Given the description of an element on the screen output the (x, y) to click on. 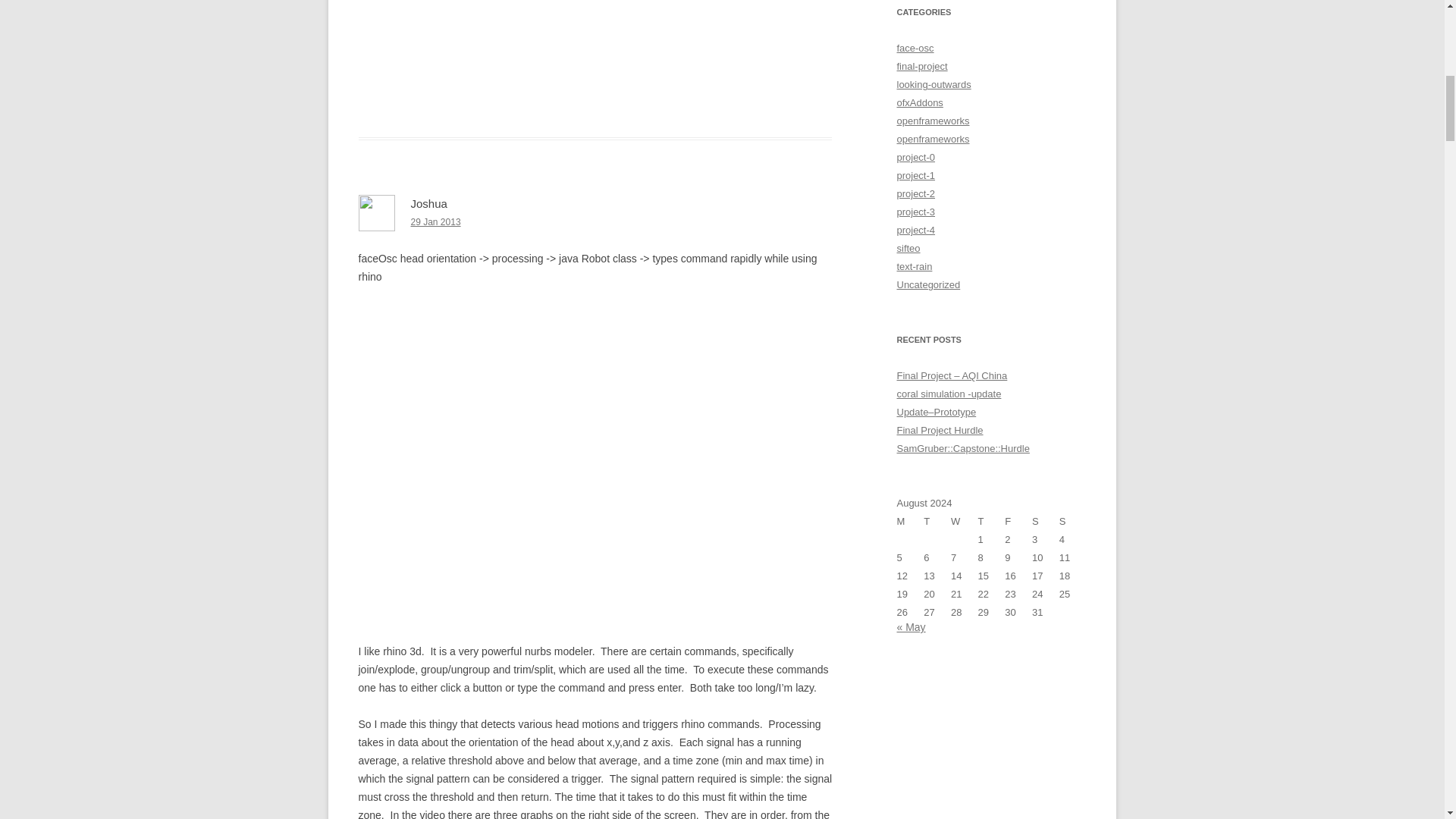
Permalink to upKit -faceOsc Rhino Commands (435, 222)
